Given the description of an element on the screen output the (x, y) to click on. 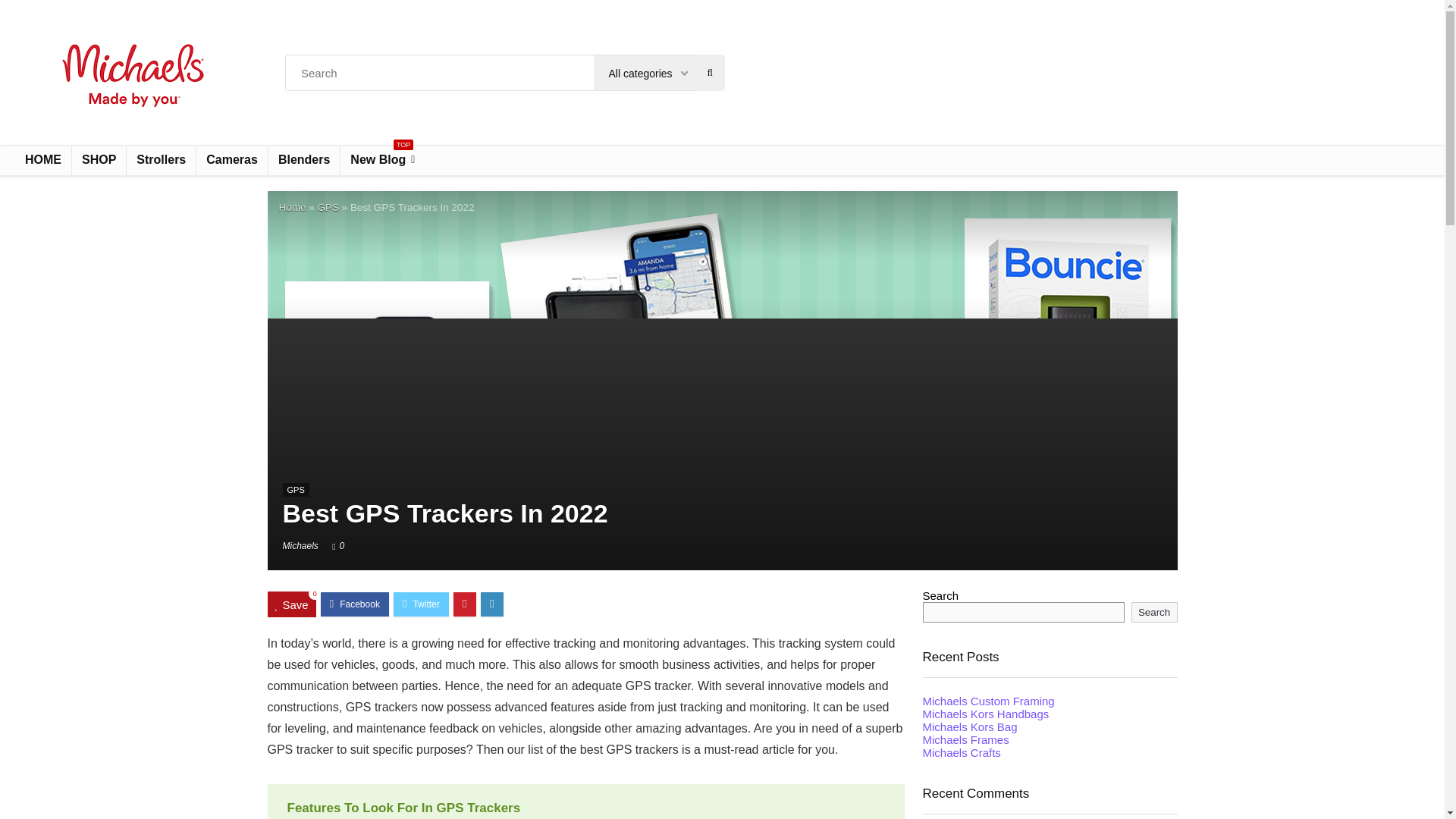
View all posts in GPS (295, 489)
Home (292, 206)
Search (1154, 611)
Michaels Kors Handbags (984, 713)
SHOP (98, 160)
HOME (382, 160)
GPS (42, 160)
Michaels Custom Framing (328, 206)
Blenders (987, 700)
